Given the description of an element on the screen output the (x, y) to click on. 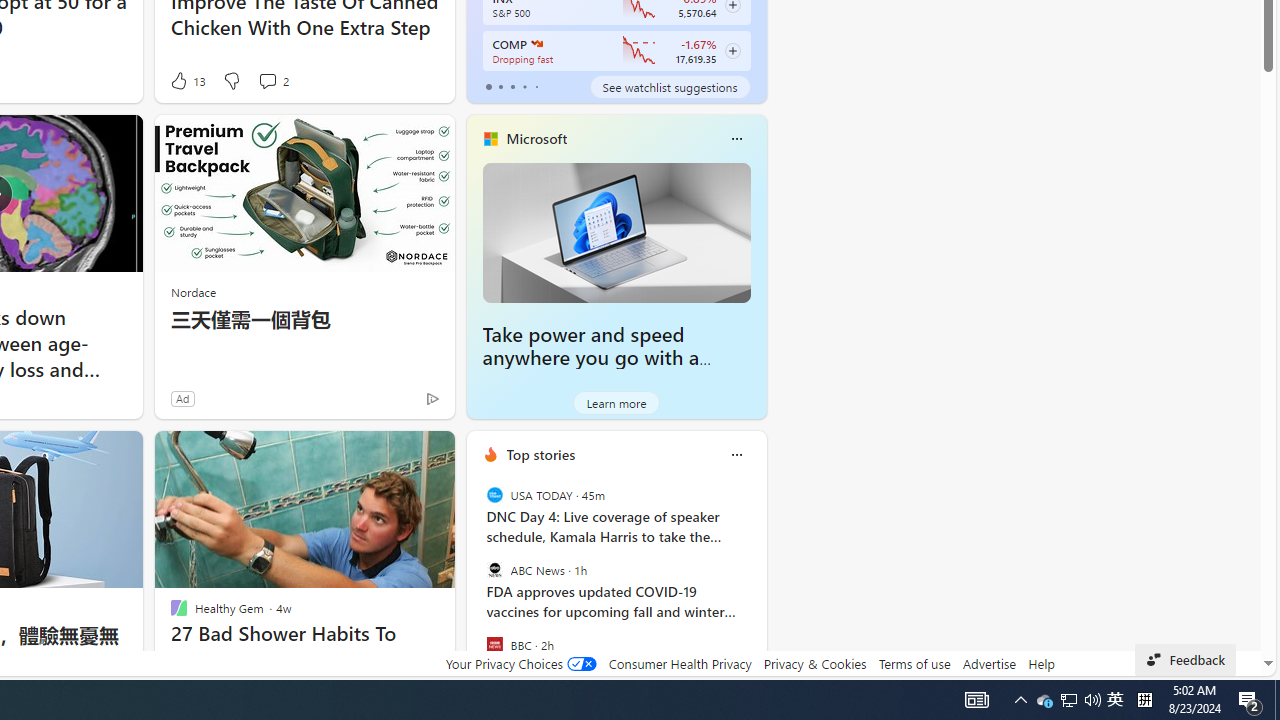
Take power and speed anywhere you go with a Windows laptop. (616, 232)
previous (476, 583)
Hide this story (393, 454)
Top stories (540, 454)
Learn more (616, 402)
Class: follow-button  m (732, 51)
next (756, 583)
